Given the description of an element on the screen output the (x, y) to click on. 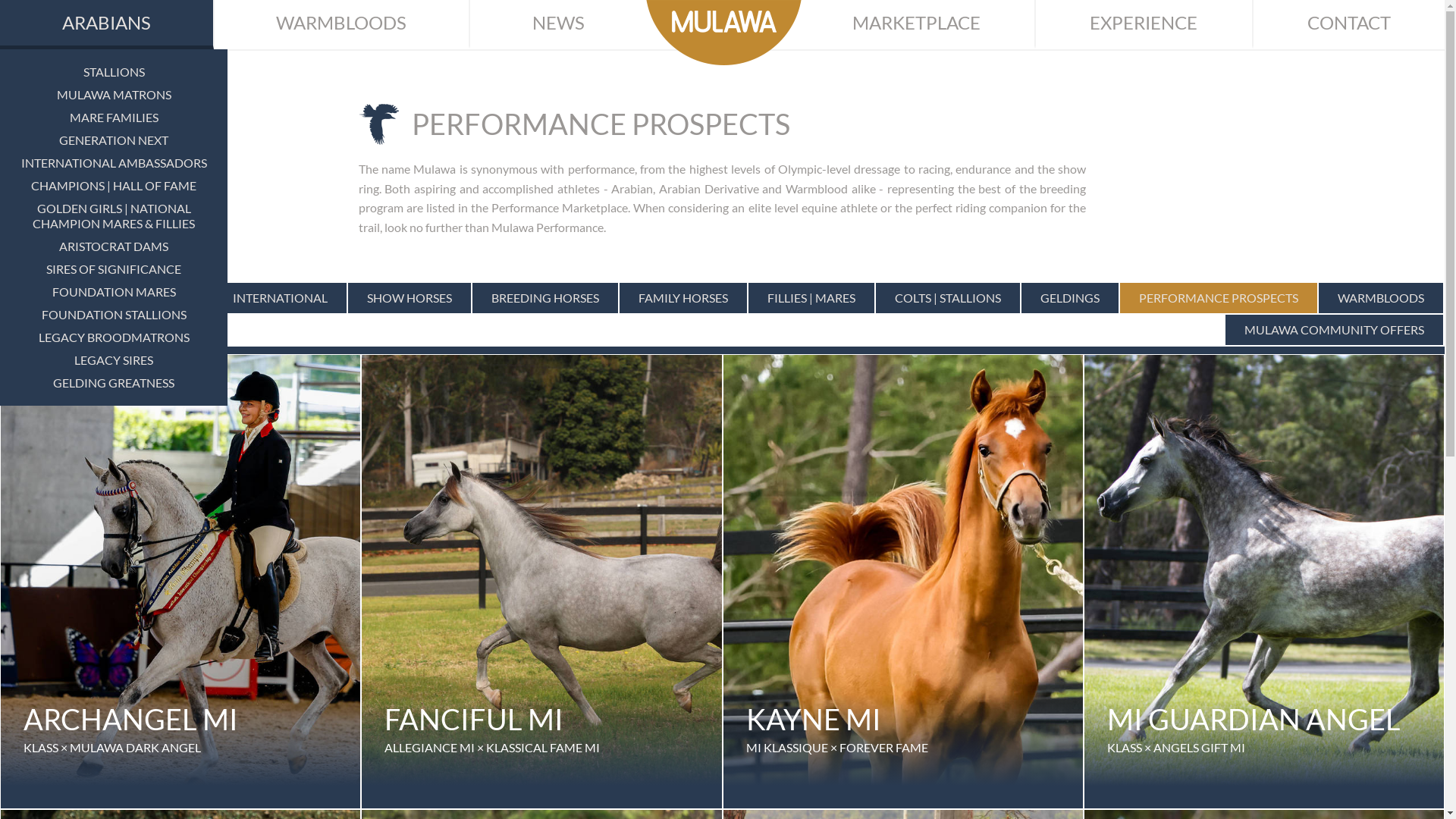
CONTACT Element type: text (1348, 24)
SIRES OF SIGNIFICANCE Element type: text (113, 268)
CHAMPIONS | HALL OF FAME Element type: text (113, 185)
LEGACY SIRES Element type: text (113, 359)
ARISTOCRAT DAMS Element type: text (113, 246)
WARMBLOODS Element type: text (341, 24)
COLTS | STALLIONS Element type: text (947, 297)
LEGACY BROODMATRONS Element type: text (113, 337)
EXPERIENCE Element type: text (1143, 24)
INTERNATIONAL AMBASSADORS Element type: text (113, 162)
MULAWA MATRONS Element type: text (113, 94)
ALL Element type: text (182, 297)
FOUNDATION MARES Element type: text (113, 291)
FAMILY HORSES Element type: text (682, 297)
SHOW HORSES Element type: text (409, 297)
WARMBLOODS Element type: text (1380, 297)
NEWS Element type: text (557, 24)
GELDINGS Element type: text (1069, 297)
GOLDEN GIRLS | NATIONAL CHAMPION MARES & FILLIES Element type: text (113, 216)
BREEDING HORSES Element type: text (545, 297)
MARE FAMILIES Element type: text (113, 117)
STALLIONS Element type: text (113, 71)
MULAWA COMMUNITY OFFERS Element type: text (1334, 329)
GELDING GREATNESS Element type: text (113, 382)
FILLIES | MARES Element type: text (811, 297)
ARABIANS Element type: text (106, 24)
Mulawa Arabian Stud Element type: hover (723, 32)
PERFORMANCE PROSPECTS Element type: text (1218, 297)
MARKETPLACE Element type: text (916, 24)
FOUNDATION STALLIONS Element type: text (113, 314)
GENERATION NEXT Element type: text (113, 139)
INTERNATIONAL Element type: text (279, 297)
